Given the description of an element on the screen output the (x, y) to click on. 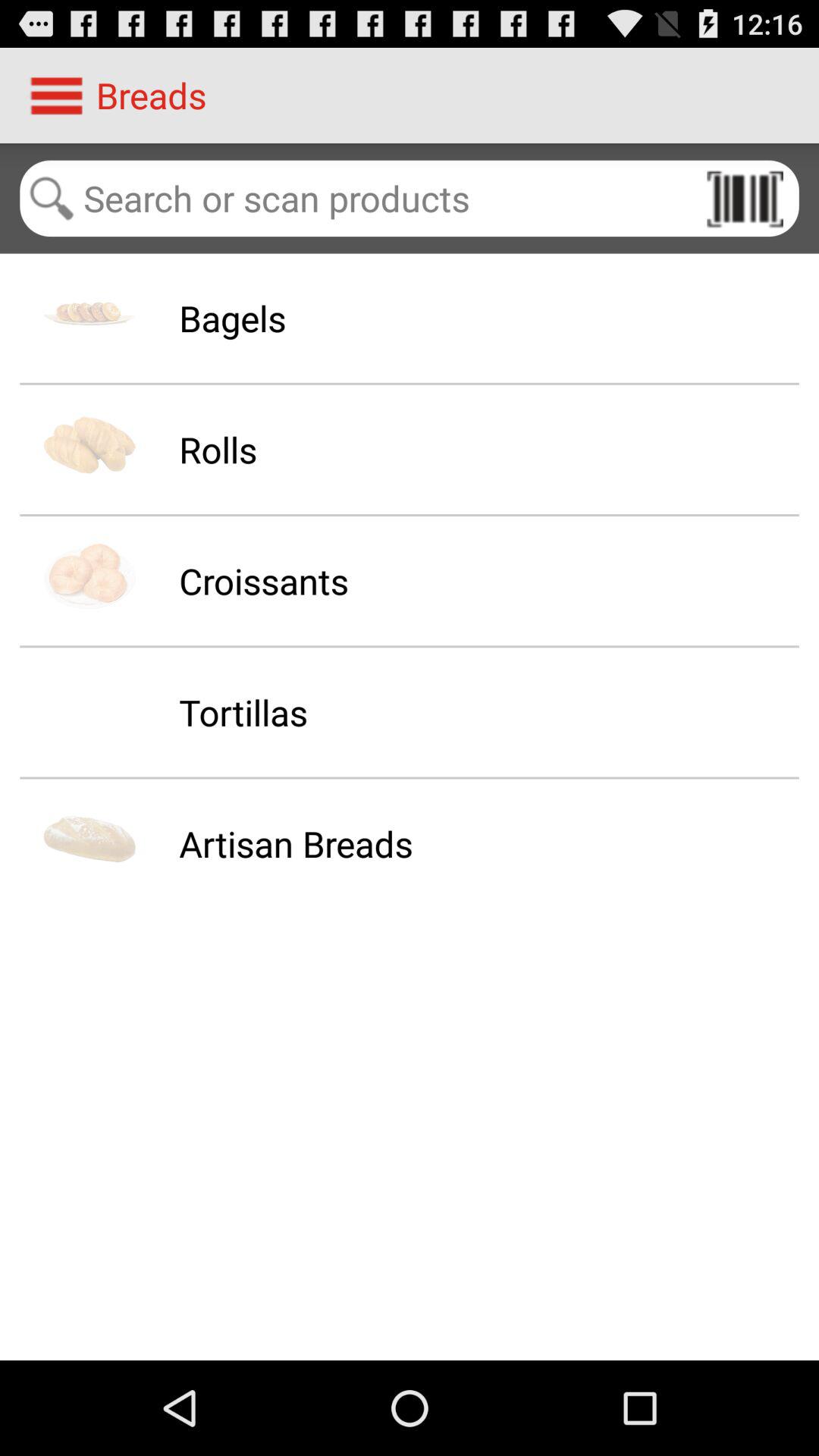
press the app above the rolls (232, 317)
